Given the description of an element on the screen output the (x, y) to click on. 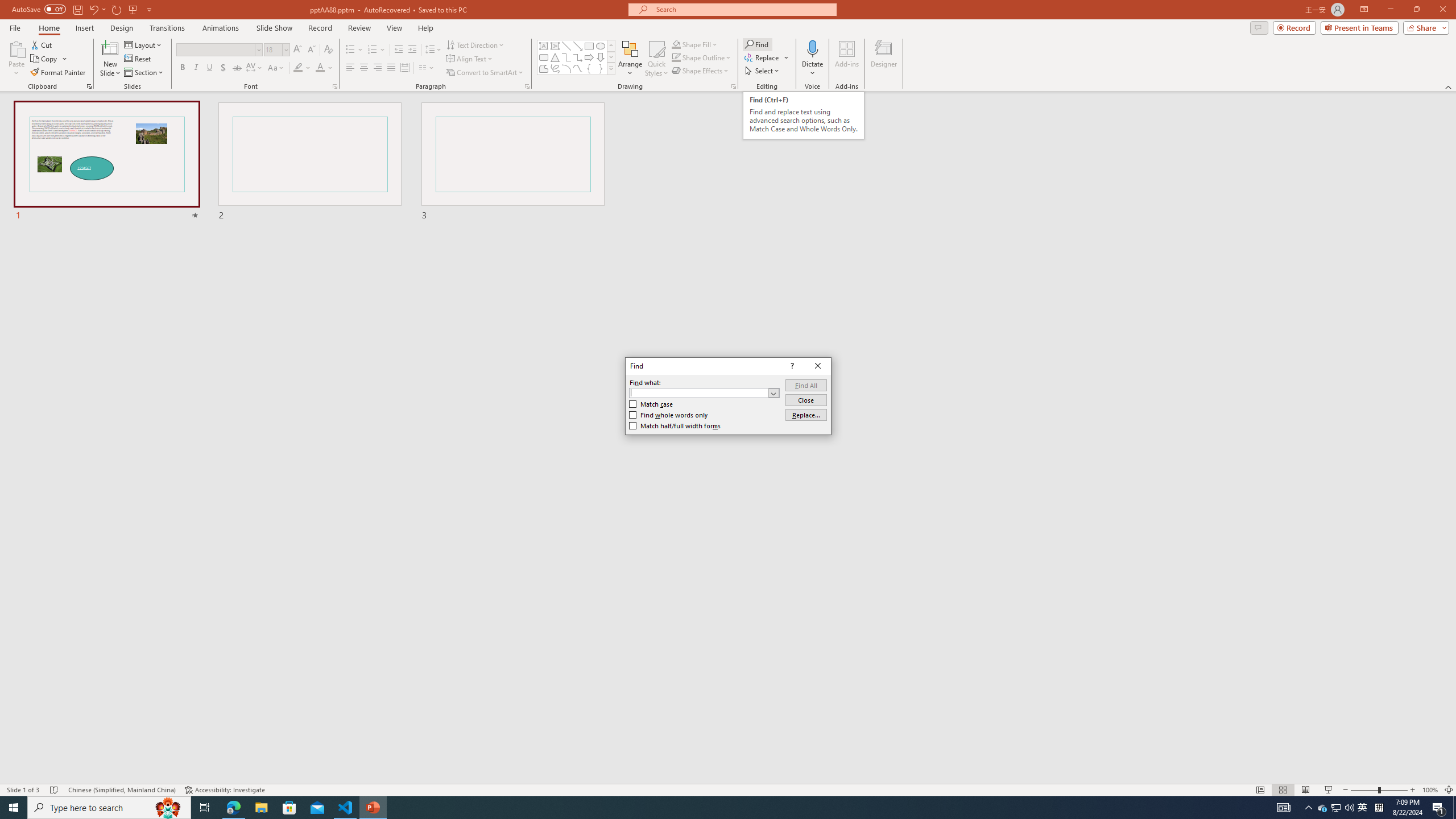
Shape Outline Teal, Accent 1 (675, 56)
